Given the description of an element on the screen output the (x, y) to click on. 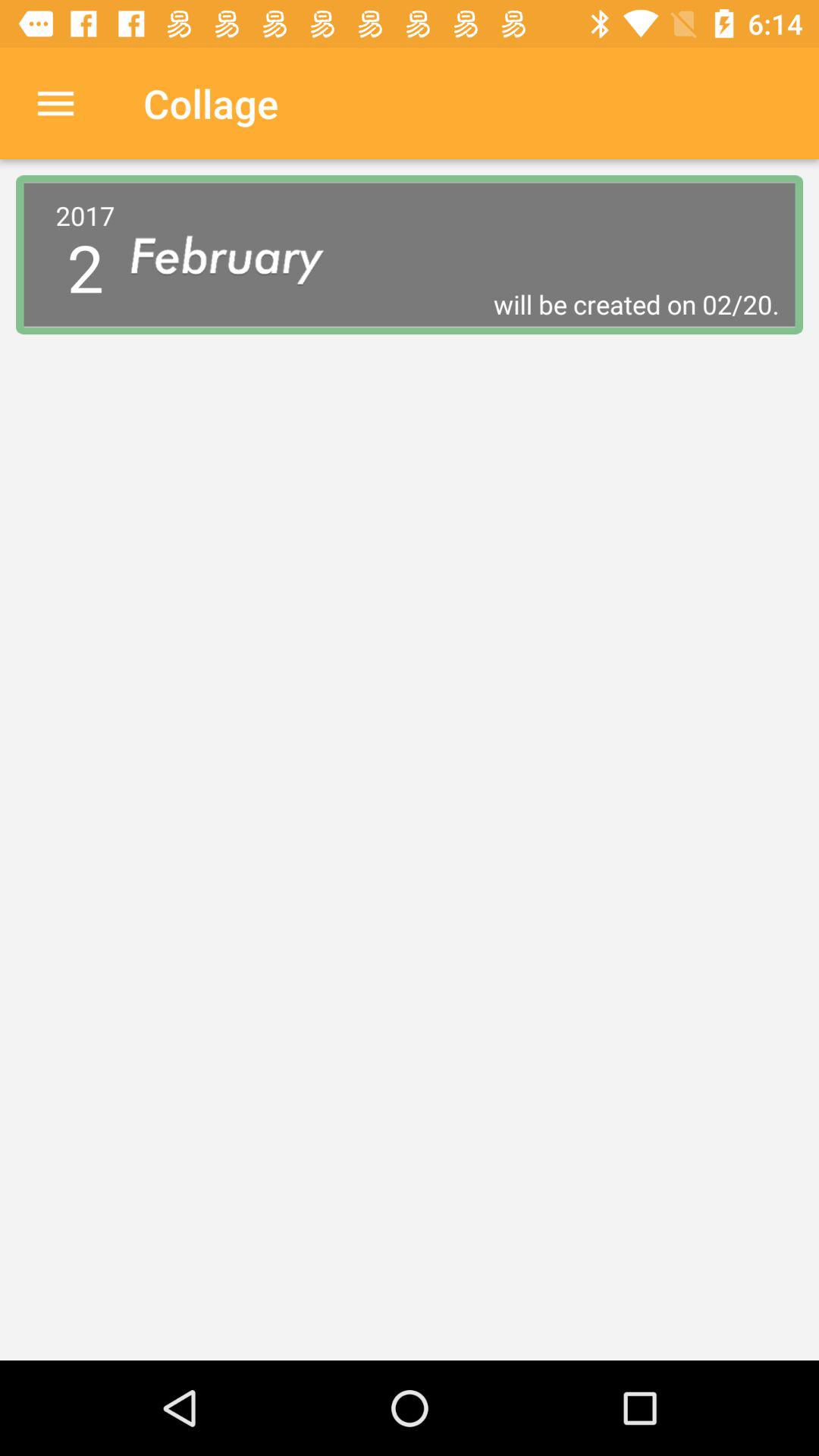
turn on will be created (454, 303)
